Given the description of an element on the screen output the (x, y) to click on. 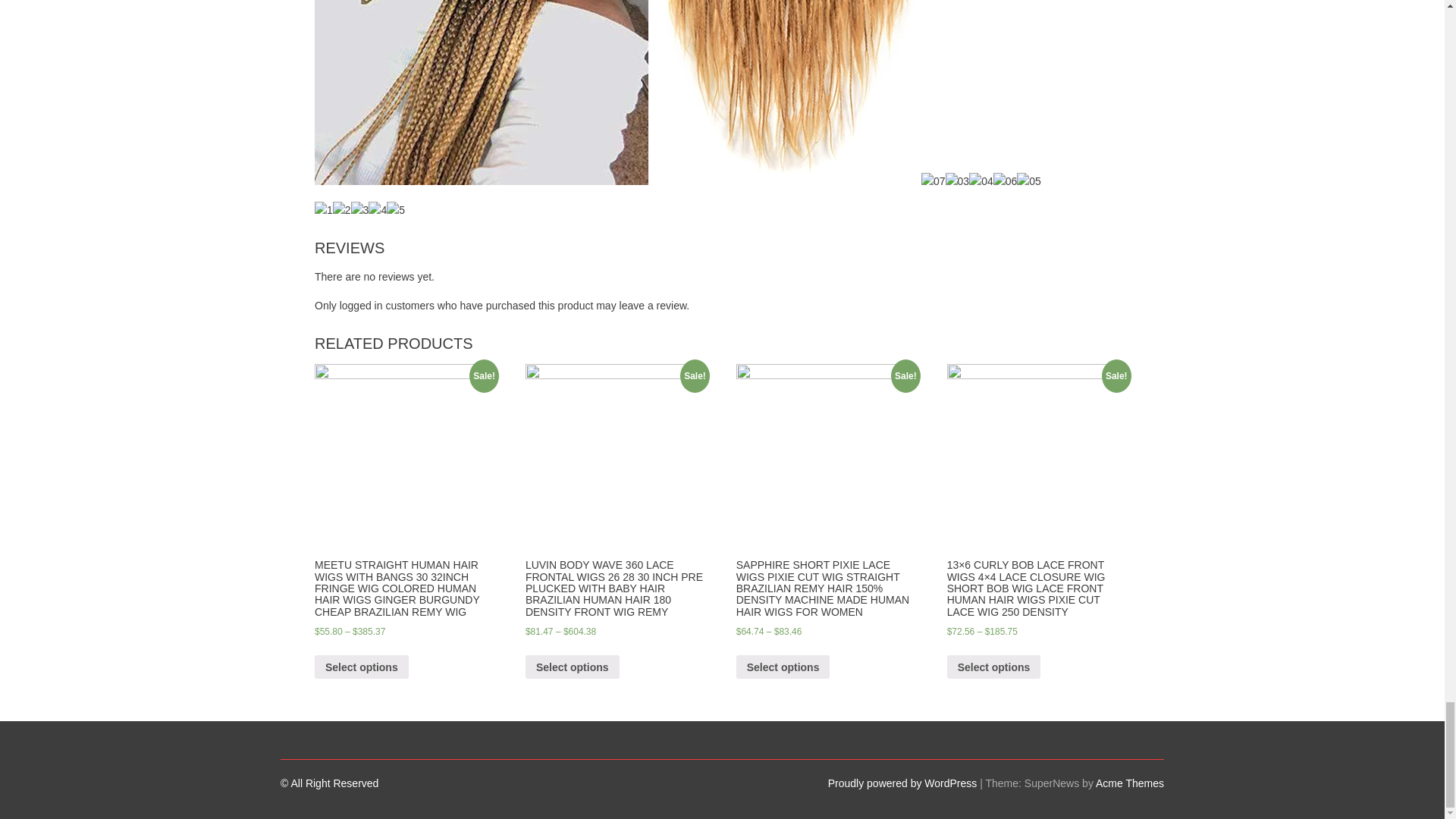
Acme Themes (1129, 783)
Select options (994, 666)
Select options (782, 666)
Select options (572, 666)
Proudly powered by WordPress (902, 783)
Select options (361, 666)
